Given the description of an element on the screen output the (x, y) to click on. 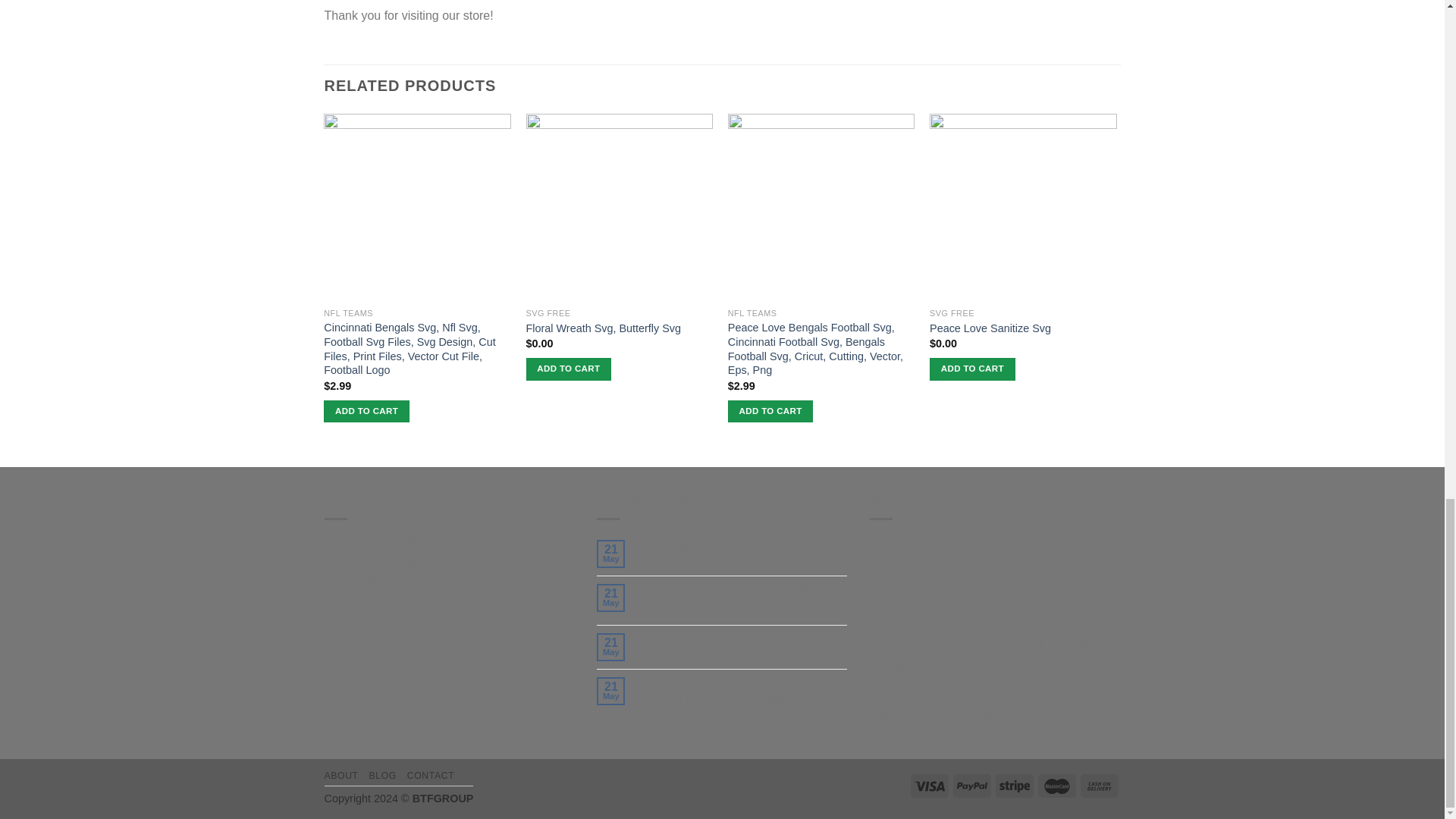
Follow on Instagram (364, 618)
Follow on Facebook (337, 618)
